Given the description of an element on the screen output the (x, y) to click on. 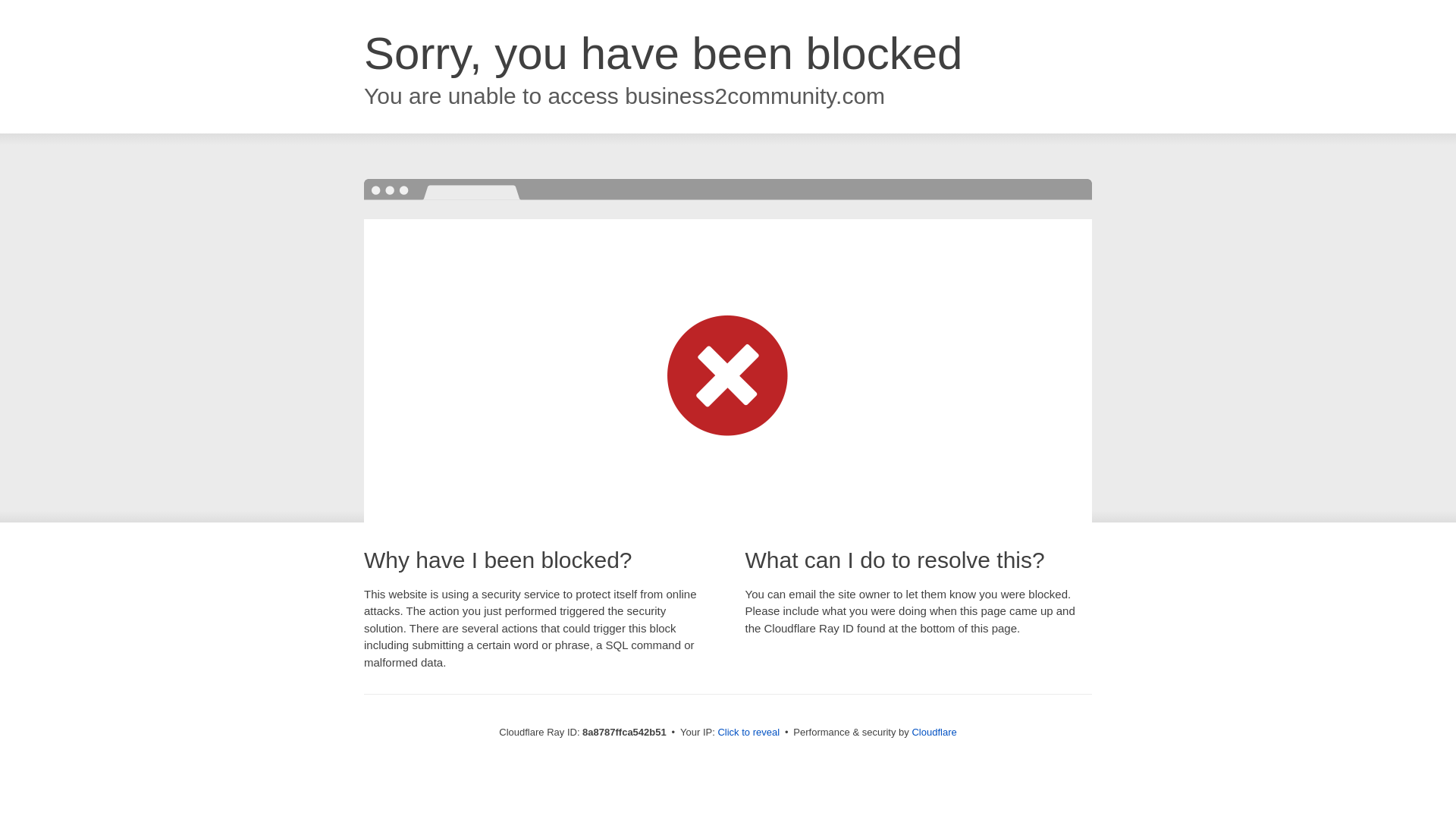
Cloudflare (933, 731)
Click to reveal (747, 732)
